Given the description of an element on the screen output the (x, y) to click on. 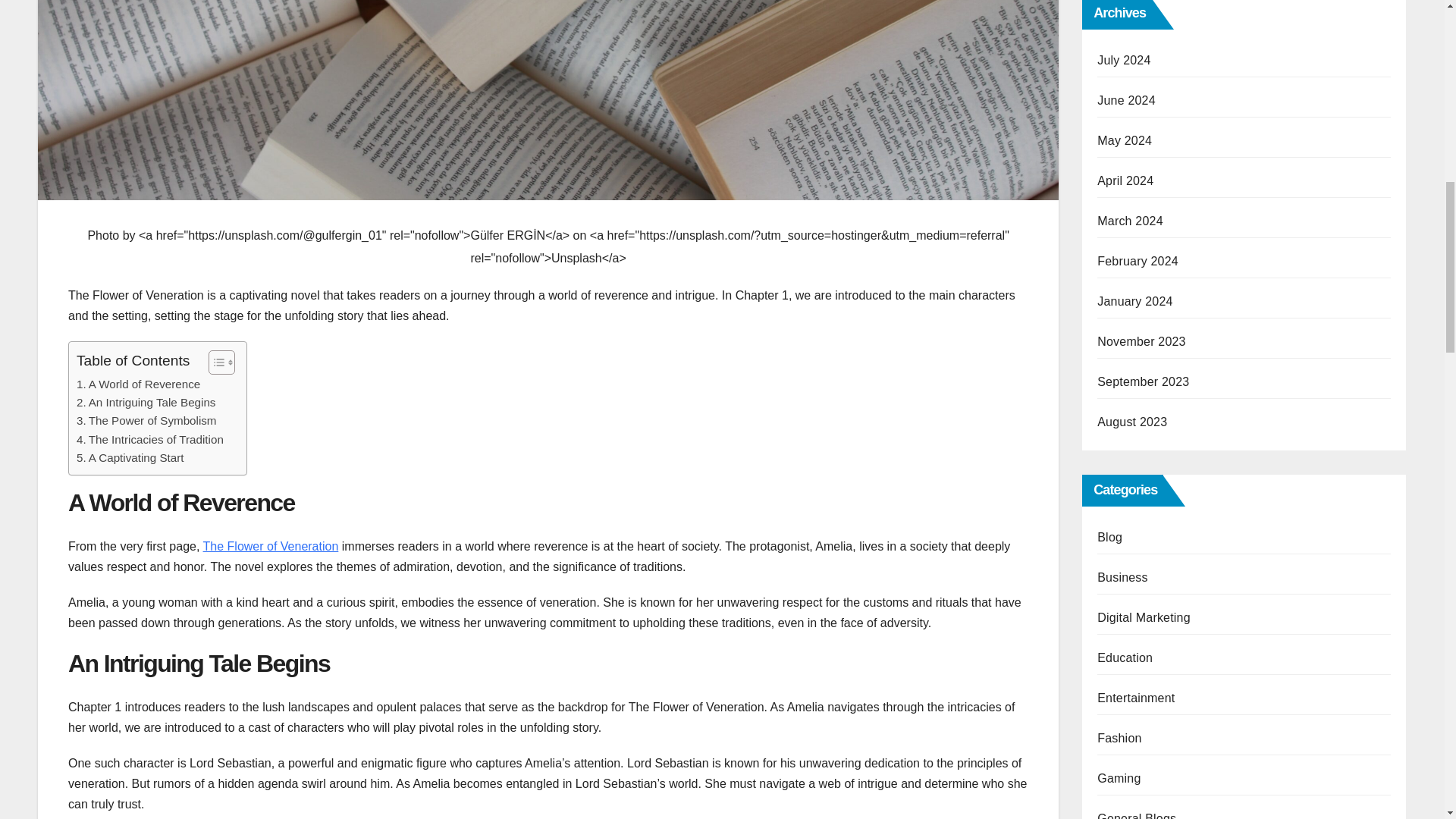
The Intricacies of Tradition (150, 439)
A Captivating Start (130, 457)
A Captivating Start (130, 457)
The Flower of Veneration (271, 545)
An Intriguing Tale Begins (146, 402)
The Power of Symbolism (146, 420)
A World of Reverence (138, 384)
The Power of Symbolism (146, 420)
A World of Reverence (138, 384)
An Intriguing Tale Begins (146, 402)
